Given the description of an element on the screen output the (x, y) to click on. 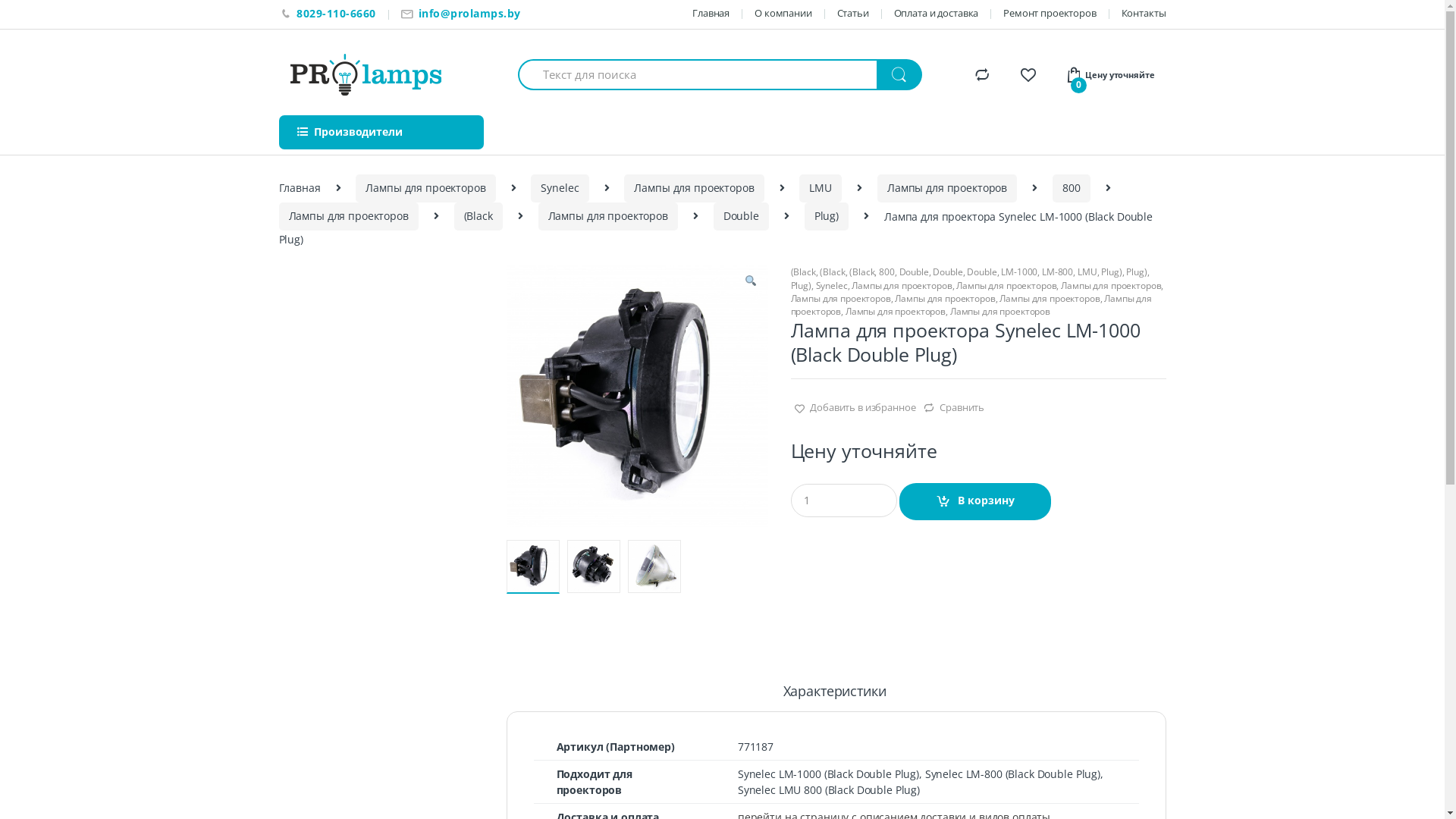
Plug) Element type: text (1111, 271)
LMU Element type: text (1087, 271)
5a43eb4e4cab736f8684f1babc5f97d2 Element type: hover (637, 396)
800 Element type: text (1071, 188)
LM-800 Element type: text (1057, 271)
800 Element type: text (886, 271)
Double Element type: text (947, 271)
Plug) Element type: text (1136, 271)
Double Element type: text (913, 271)
Double Element type: text (740, 216)
(Black Element type: text (478, 216)
Double Element type: text (981, 271)
(Black Element type: text (831, 271)
Synelec Element type: text (559, 188)
(Black Element type: text (861, 271)
Skip to content Element type: text (37, 9)
Synelec Element type: text (831, 285)
8029-110-6660 Element type: text (327, 13)
info@prolamps.by Element type: text (460, 13)
Qty Element type: hover (843, 500)
LM-1000 Element type: text (1019, 271)
Plug) Element type: text (800, 285)
(Black Element type: text (802, 271)
LMU Element type: text (820, 188)
Skip to navigation Element type: text (43, 9)
Plug) Element type: text (826, 216)
